Given the description of an element on the screen output the (x, y) to click on. 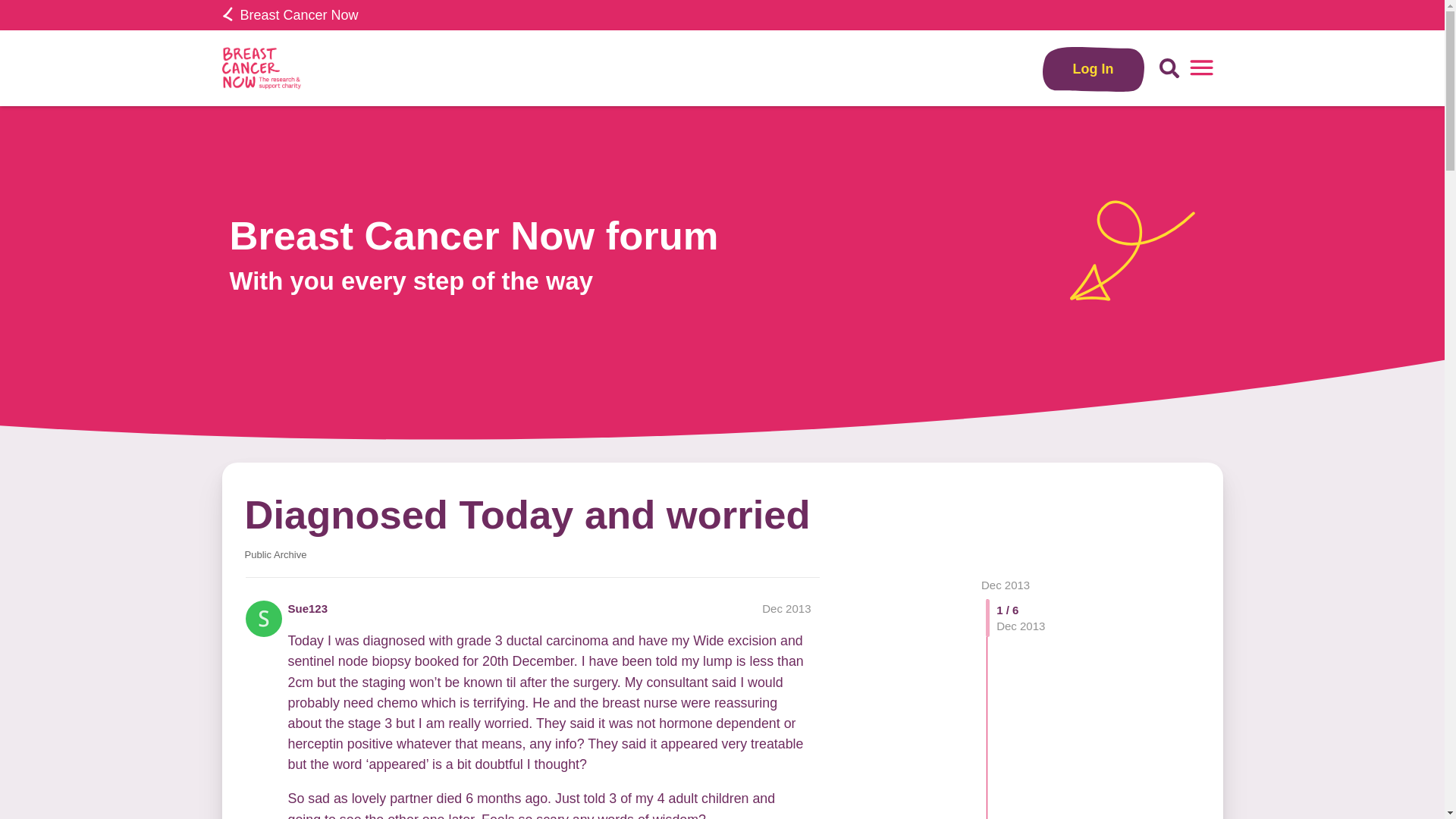
Post date (785, 608)
Dec 2013 (1005, 584)
Dec 2013 (785, 608)
Breast Cancer Now (289, 15)
Diagnosed Today and worried (526, 514)
menu (1201, 67)
Log In (1093, 68)
Search (1169, 68)
Sue123 (308, 608)
Dec 2013 (1005, 584)
Archived posts which are available to view. (274, 554)
Public Archive (274, 554)
